Given the description of an element on the screen output the (x, y) to click on. 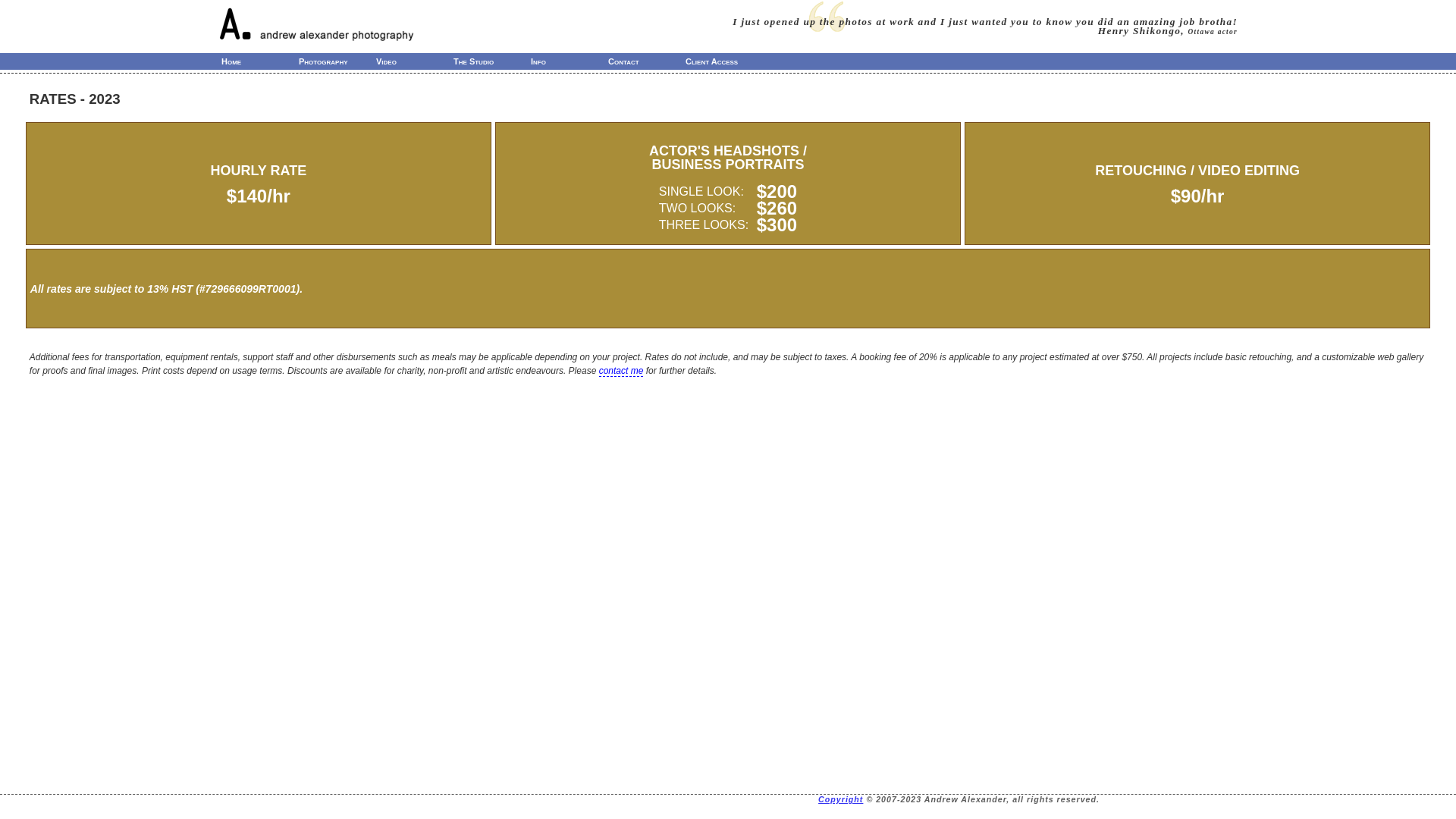
Client Access Element type: text (723, 61)
Home Element type: text (259, 61)
Photography Element type: text (337, 61)
Copyright Element type: text (840, 798)
Info Element type: text (569, 61)
The Studio Element type: text (491, 61)
Video Element type: text (414, 61)
contact me Element type: text (621, 370)
Contact Element type: text (646, 61)
